Given the description of an element on the screen output the (x, y) to click on. 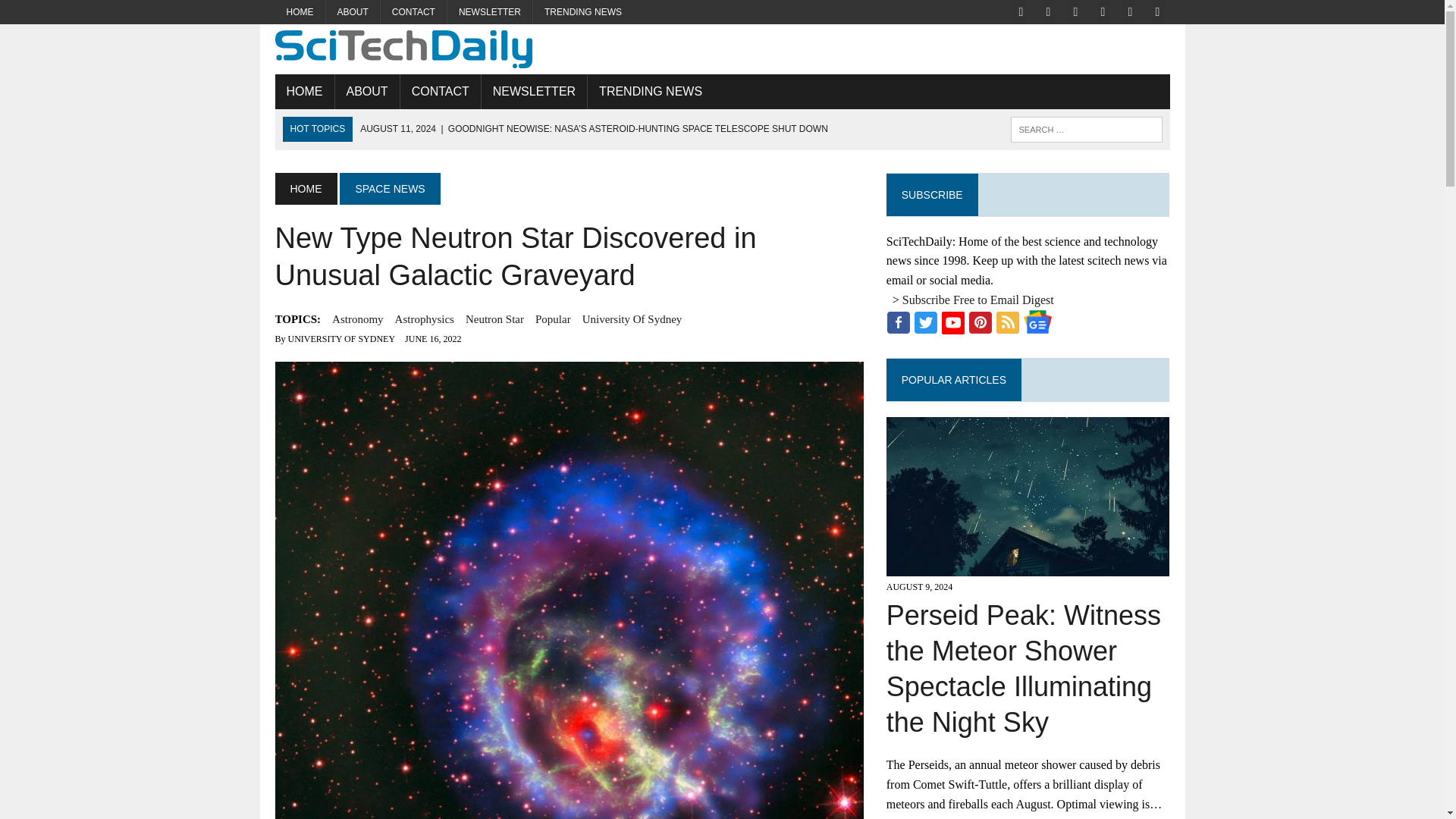
NEWSLETTER (533, 91)
SPACE NEWS (389, 188)
Astronomy (357, 319)
TRENDING NEWS (650, 91)
About SciTechDaily (366, 91)
HOME (304, 91)
SciTechDaily Newsletter (533, 91)
Neutron Star (494, 319)
University Of Sydney (632, 319)
ABOUT (366, 91)
